Given the description of an element on the screen output the (x, y) to click on. 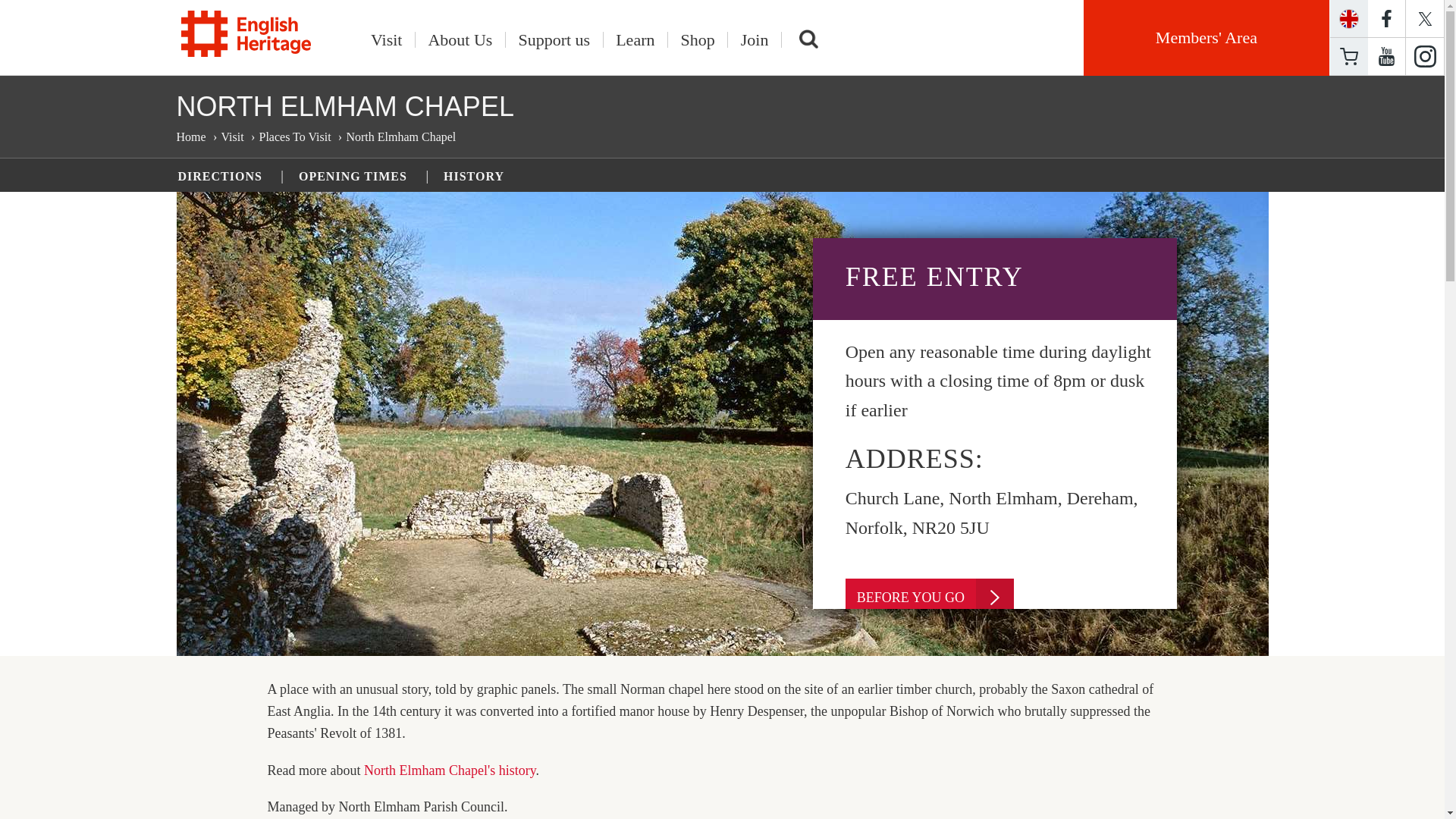
History  (449, 770)
ENGLISH HERITAGE (245, 33)
Visit (386, 39)
BEFORE YOU GO (929, 597)
